Given the description of an element on the screen output the (x, y) to click on. 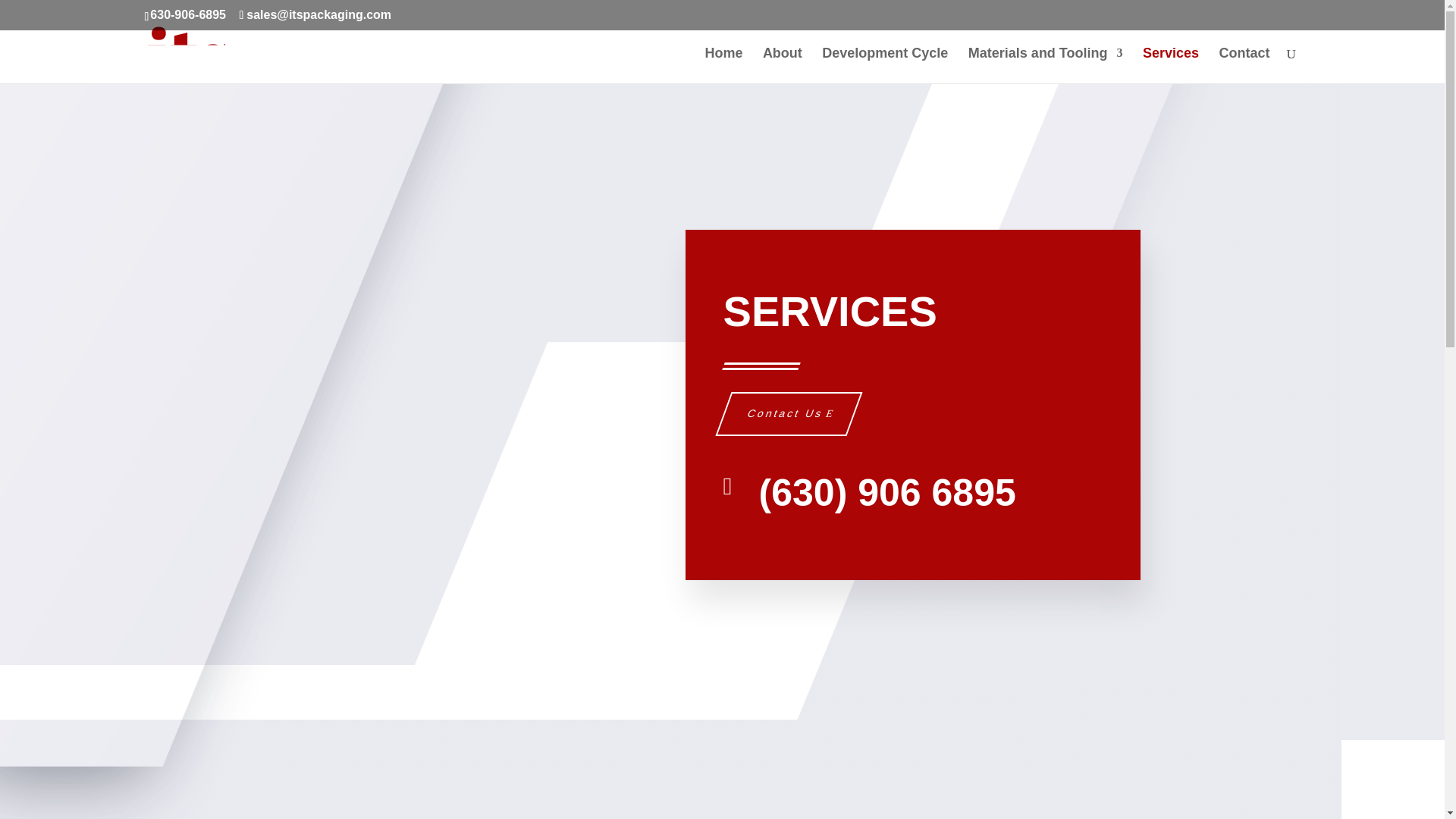
Contact (1244, 65)
Services (1170, 65)
Development Cycle (884, 65)
Home (723, 65)
Materials and Tooling (1045, 65)
About (782, 65)
Contact Us (779, 413)
